Given the description of an element on the screen output the (x, y) to click on. 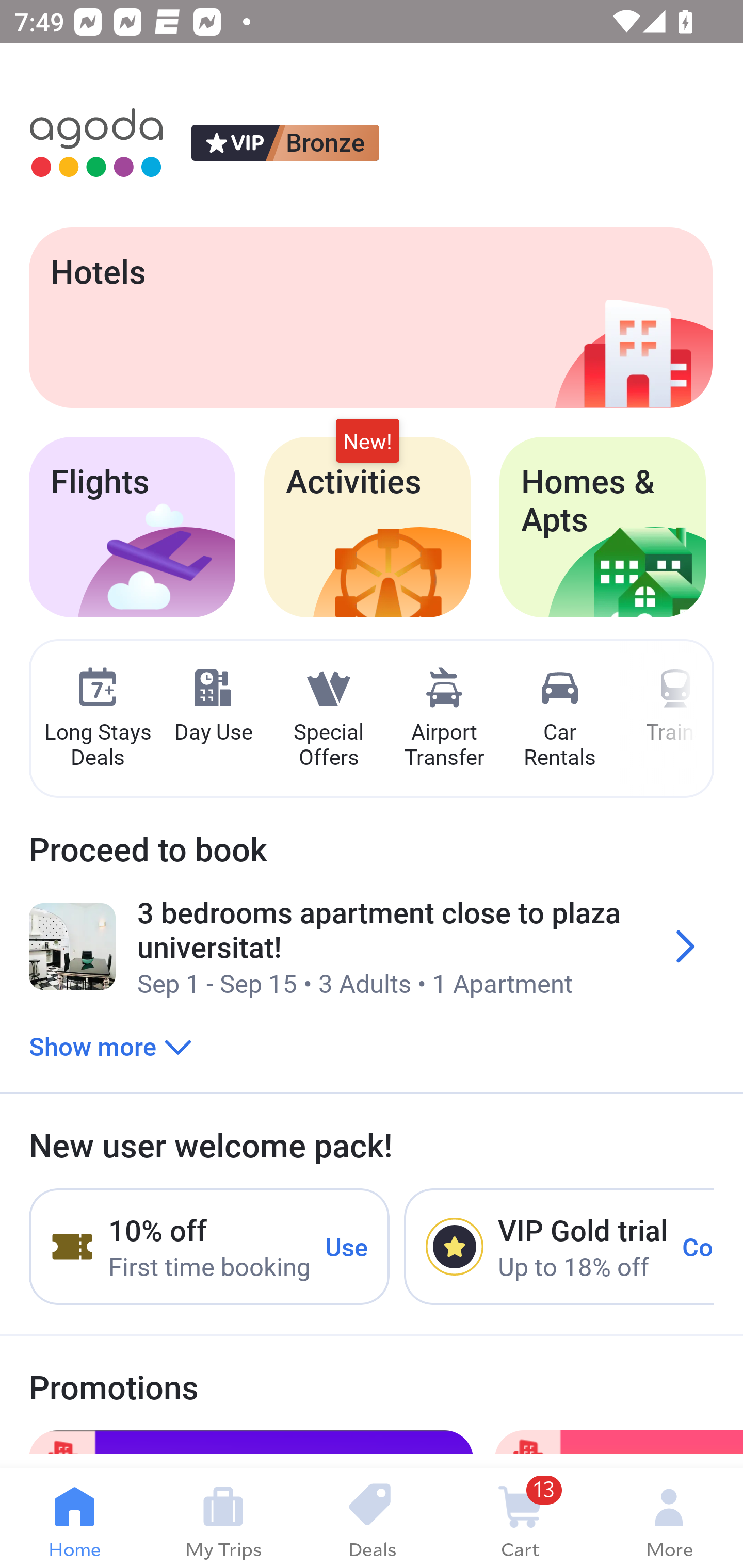
Hotels (370, 317)
New! (367, 441)
Flights (131, 527)
Activities (367, 527)
Homes & Apts (602, 527)
Day Use (213, 706)
Long Stays Deals (97, 718)
Special Offers (328, 718)
Airport Transfer (444, 718)
Car Rentals (559, 718)
Show more (110, 1045)
Use (346, 1246)
Home (74, 1518)
My Trips (222, 1518)
Deals (371, 1518)
13 Cart (519, 1518)
More (668, 1518)
